Given the description of an element on the screen output the (x, y) to click on. 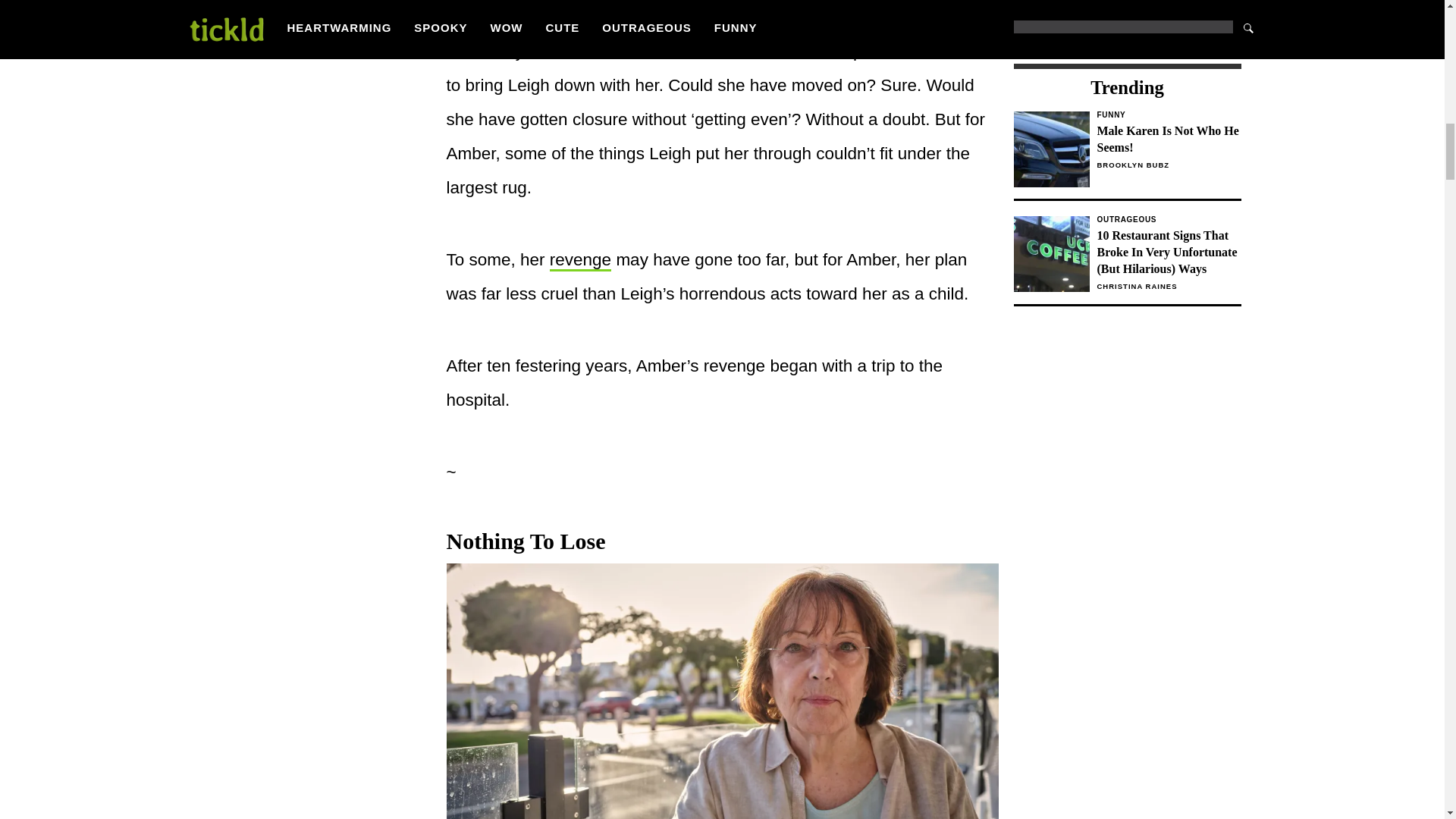
Male Karen Is Not Who He Seems! (1168, 139)
Funny (1168, 114)
Outrageous (1168, 219)
revenge (1126, 155)
